Given the description of an element on the screen output the (x, y) to click on. 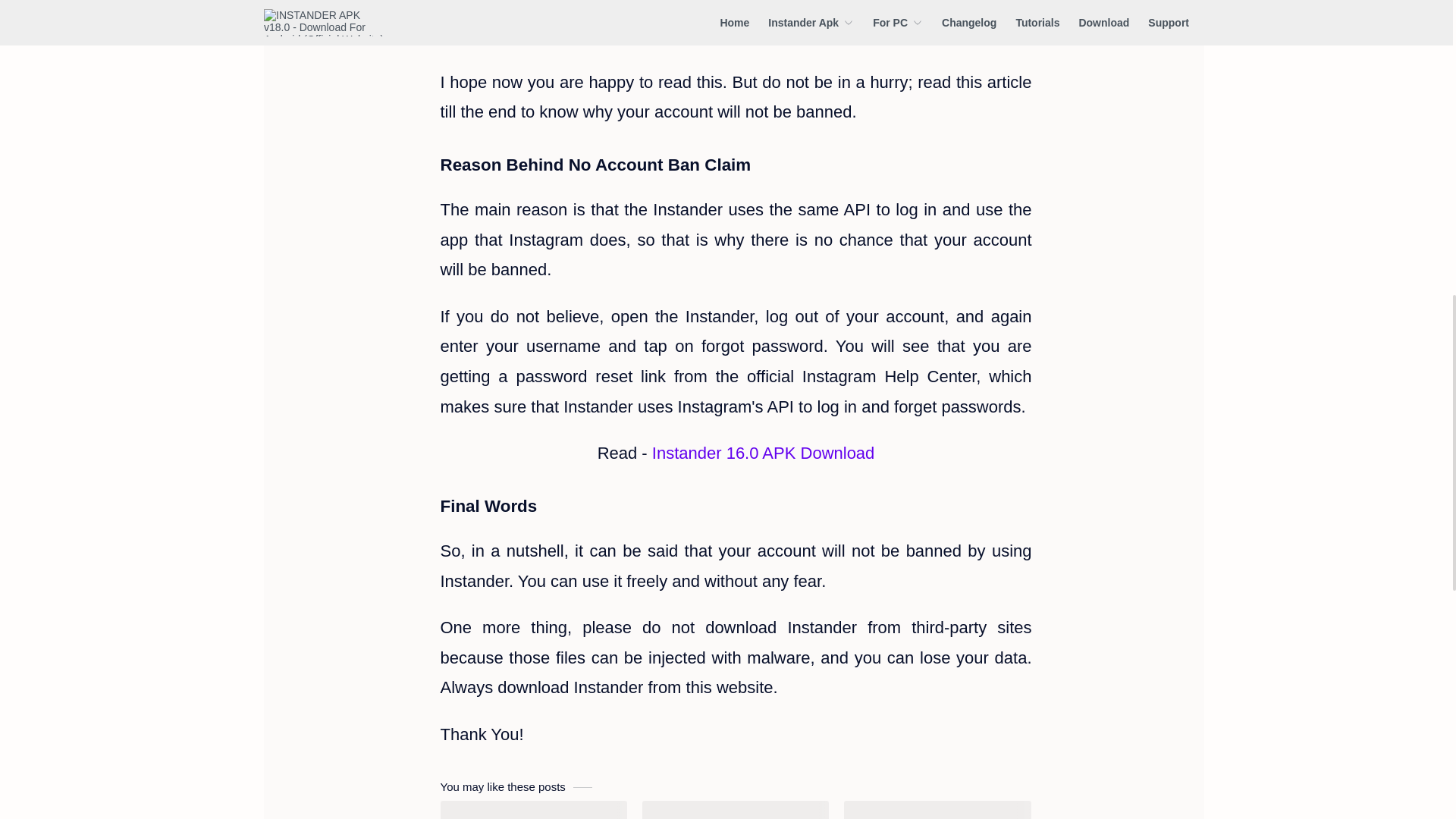
Instander 16.0 APK Download (763, 452)
Can Your Account Be Banned by Using Instander? (532, 809)
How to Turn on Ghost Mode in Instander? (937, 809)
Is Instander Safe? (735, 809)
